Given the description of an element on the screen output the (x, y) to click on. 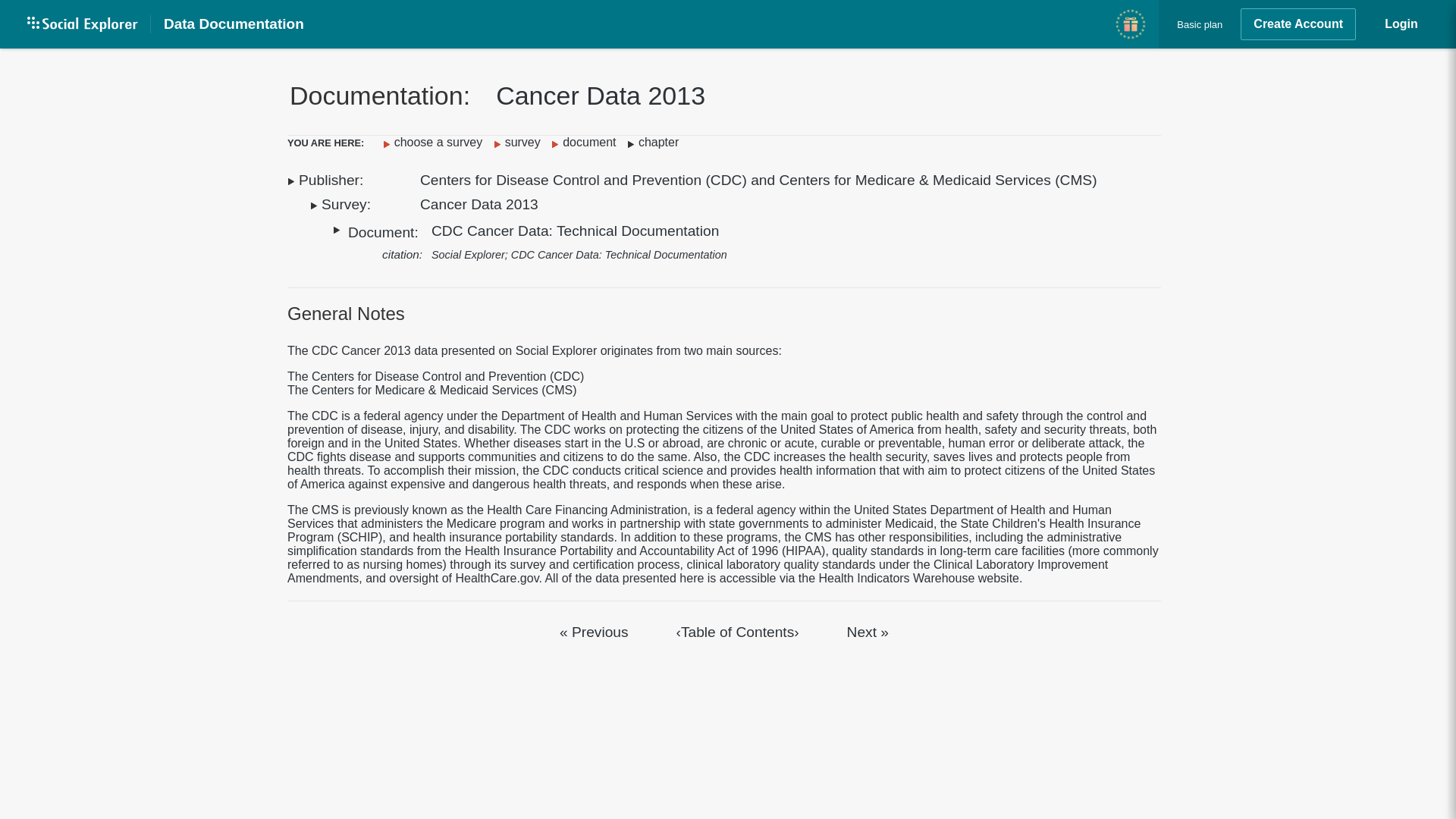
document (587, 141)
choose a survey (436, 141)
Create Account (1297, 24)
Login (1401, 24)
Health Indicators Warehouse (896, 577)
CDC Cancer Data: Technical Documentation (574, 230)
News and Updates (1130, 23)
survey (520, 141)
Cancer Data 2013 (479, 204)
